Given the description of an element on the screen output the (x, y) to click on. 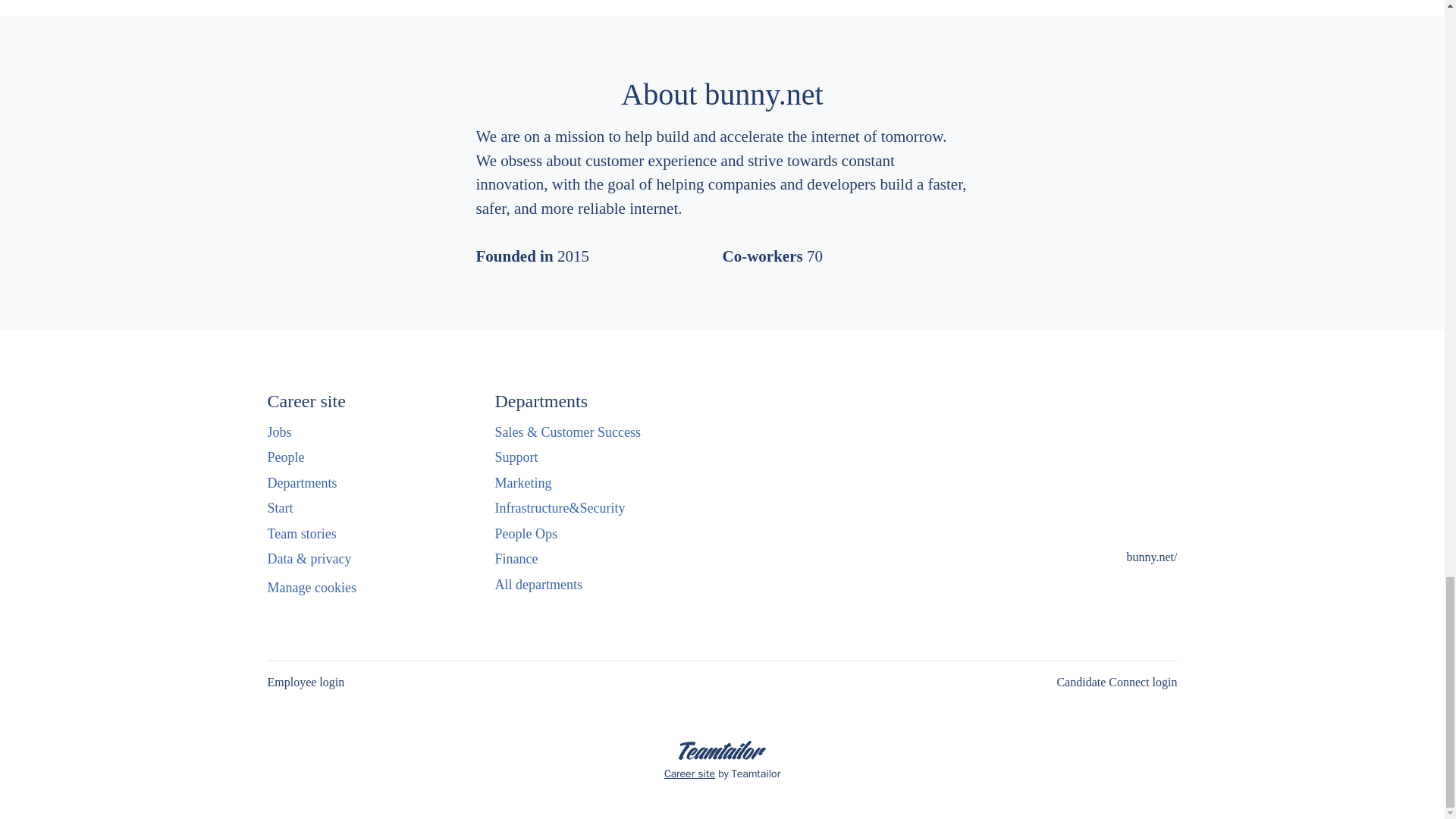
Start (279, 507)
People (285, 456)
Team stories (301, 533)
Marketing (523, 482)
Support (516, 456)
Manage cookies (310, 588)
Departments (301, 482)
People Ops (526, 533)
Jobs (278, 432)
Finance (516, 558)
